Given the description of an element on the screen output the (x, y) to click on. 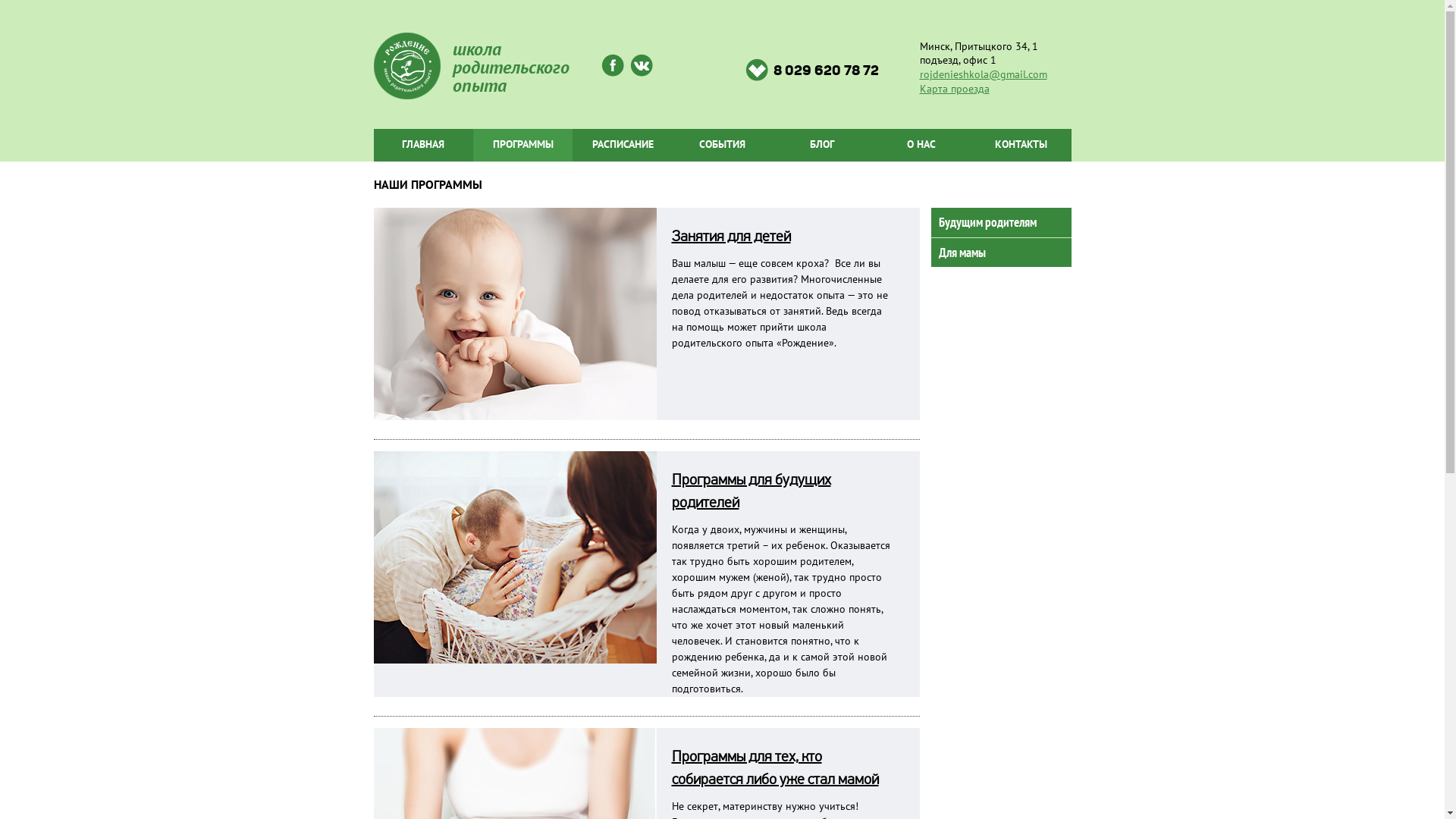
8 029 620 78 72 Element type: text (811, 69)
rojdenieshkola@gmail.com Element type: text (982, 74)
